Given the description of an element on the screen output the (x, y) to click on. 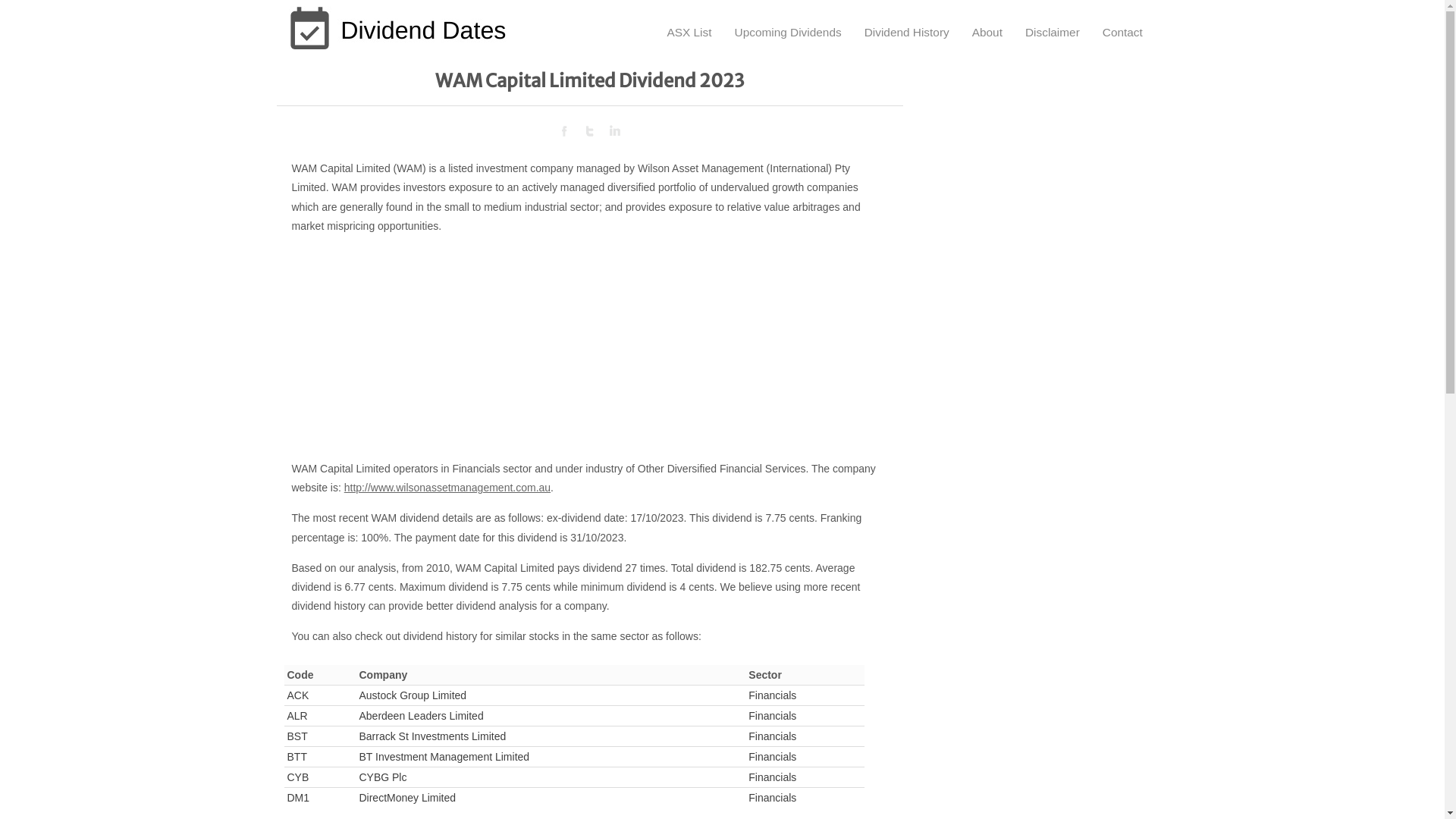
ACK Element type: text (297, 695)
Dividend History Element type: text (906, 24)
ASX List Element type: text (688, 24)
Disclaimer Element type: text (1052, 24)
ALR Element type: text (296, 715)
About Element type: text (986, 24)
BST Element type: text (296, 736)
CYB Element type: text (297, 777)
DM1 Element type: text (297, 797)
Advertisement Element type: hover (588, 353)
Upcoming Dividends Element type: text (788, 24)
http://www.wilsonassetmanagement.com.au Element type: text (447, 487)
linkdin Element type: hover (614, 131)
Contact Element type: text (1122, 24)
Advertisement Element type: hover (1041, 302)
BTT Element type: text (296, 756)
